Given the description of an element on the screen output the (x, y) to click on. 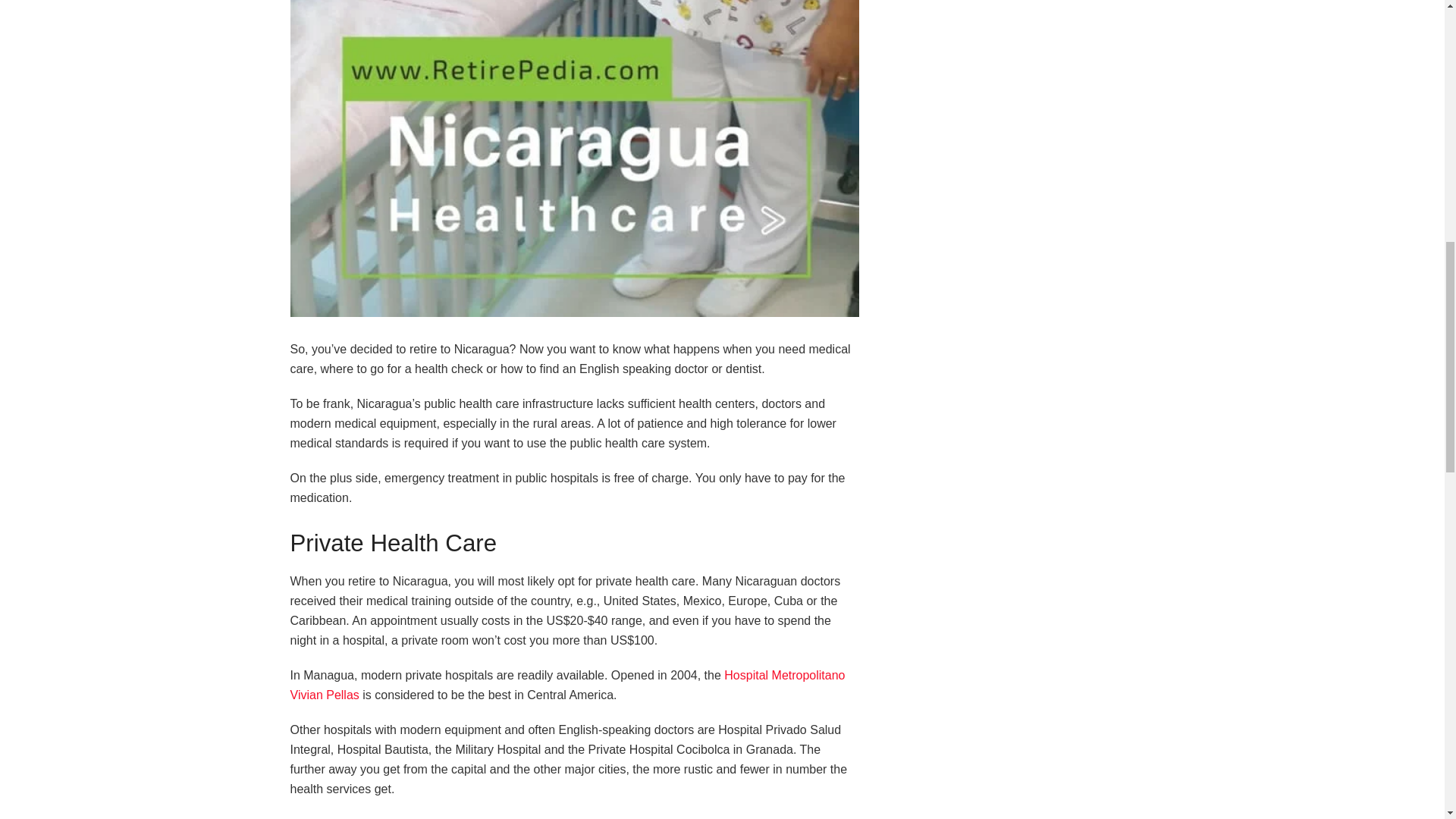
Hospital Metropolitano Vivian Pellas (566, 685)
